Given the description of an element on the screen output the (x, y) to click on. 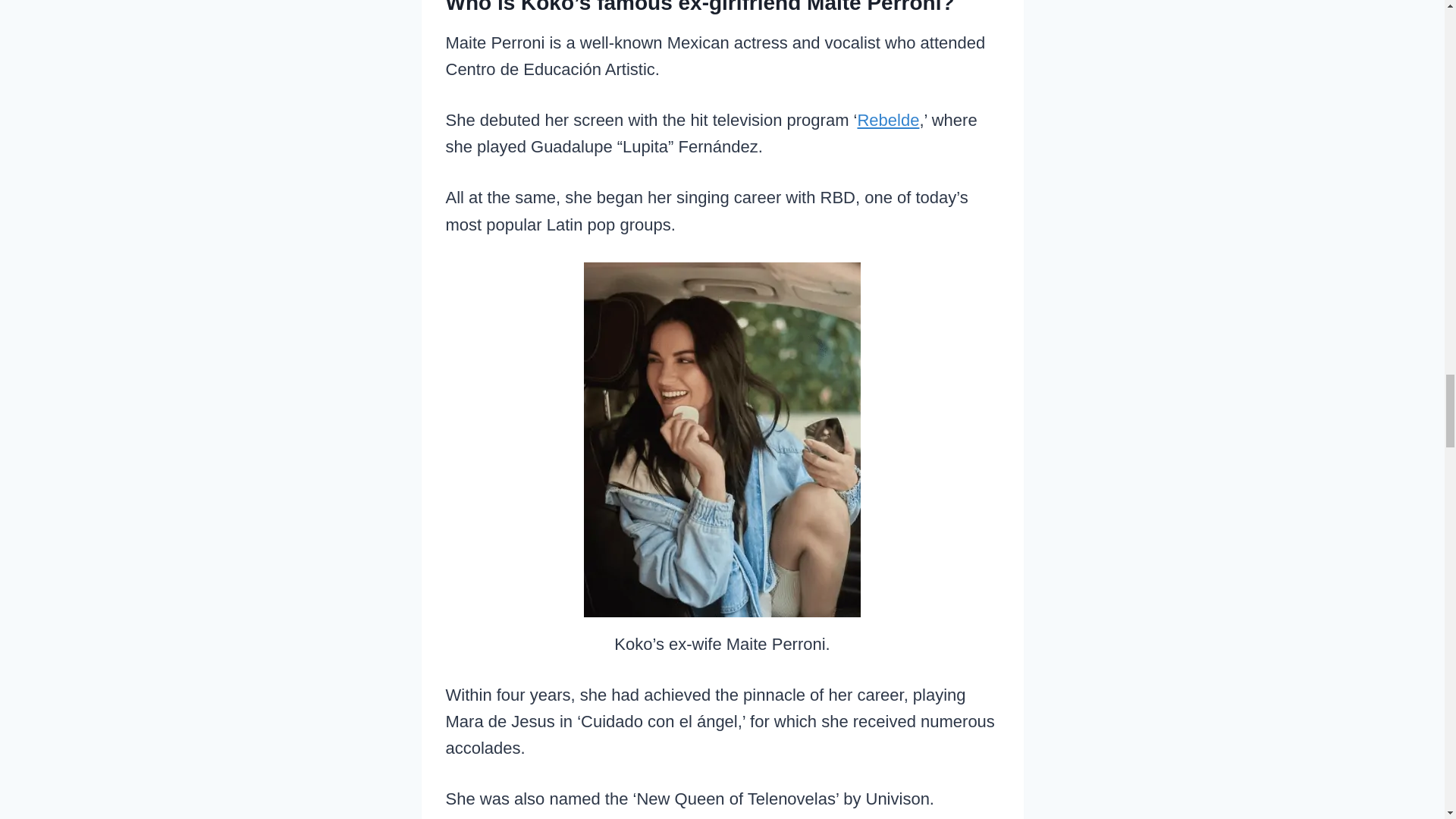
Rebelde (887, 119)
